Given the description of an element on the screen output the (x, y) to click on. 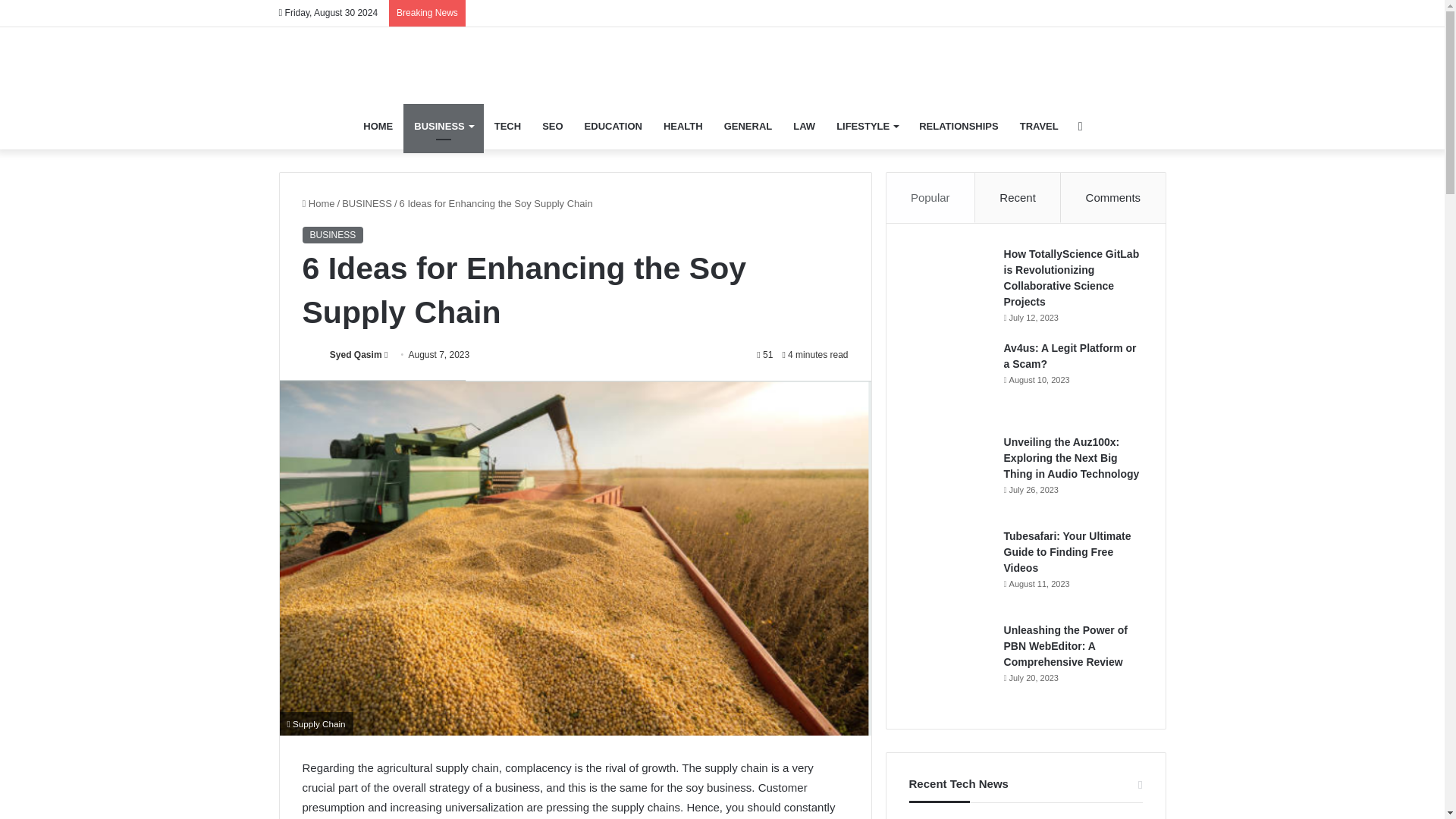
Syed Qasim (355, 354)
BUSINESS (331, 234)
TRAVEL (1038, 126)
Home (317, 203)
Syed Qasim (355, 354)
BUSINESS (443, 126)
SEO (552, 126)
EDUCATION (612, 126)
TECH (507, 126)
LAW (804, 126)
